Given the description of an element on the screen output the (x, y) to click on. 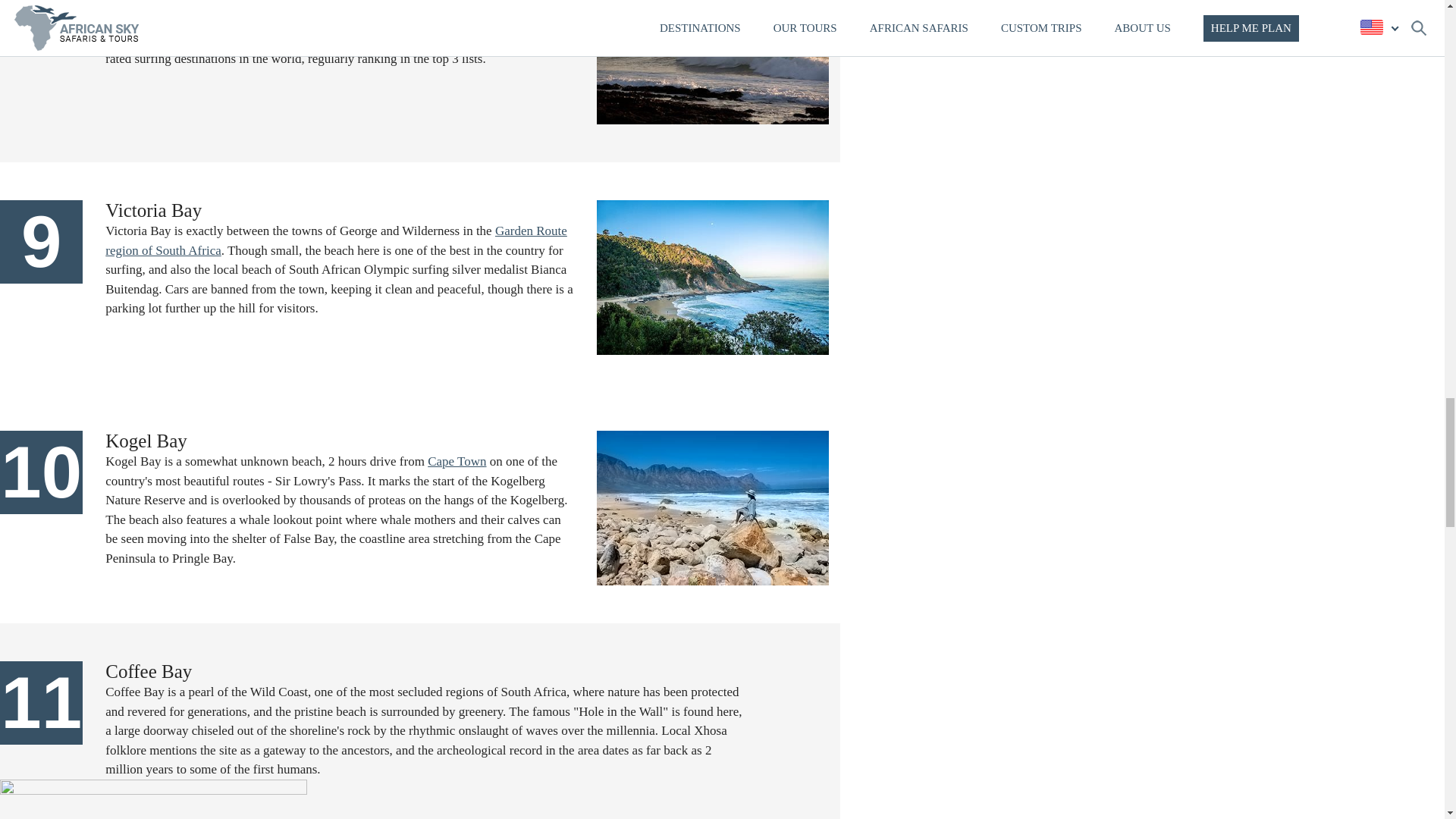
Garden Route region of South Africa (335, 240)
Cape Town (457, 461)
